Given the description of an element on the screen output the (x, y) to click on. 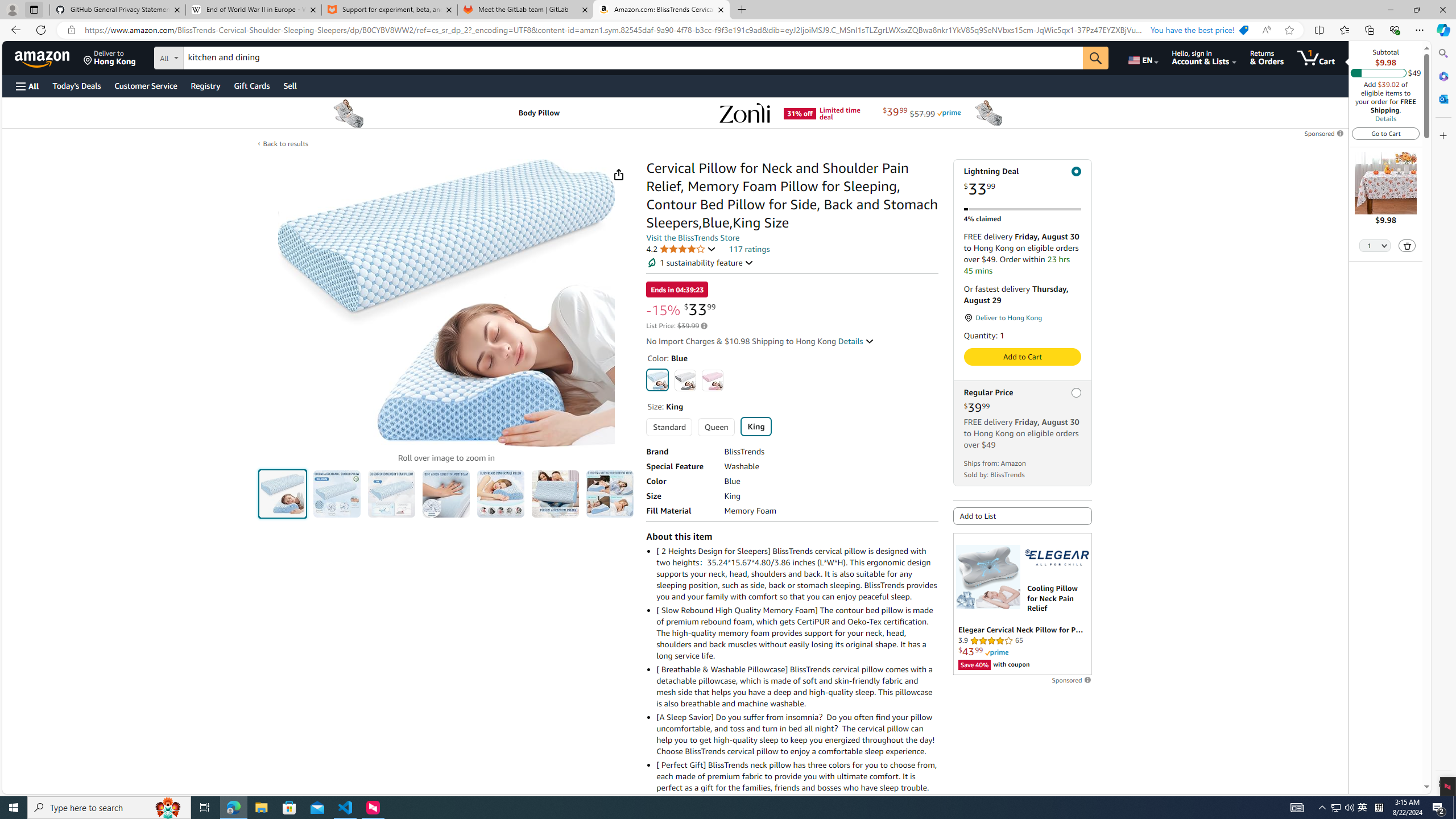
Back to results (285, 143)
Today's Deals (76, 85)
Pink (711, 380)
Delete (1407, 245)
Go (1096, 57)
Gift Cards (251, 85)
King (755, 425)
Grey (684, 380)
Add to Cart (1021, 356)
Pink (711, 380)
